Given the description of an element on the screen output the (x, y) to click on. 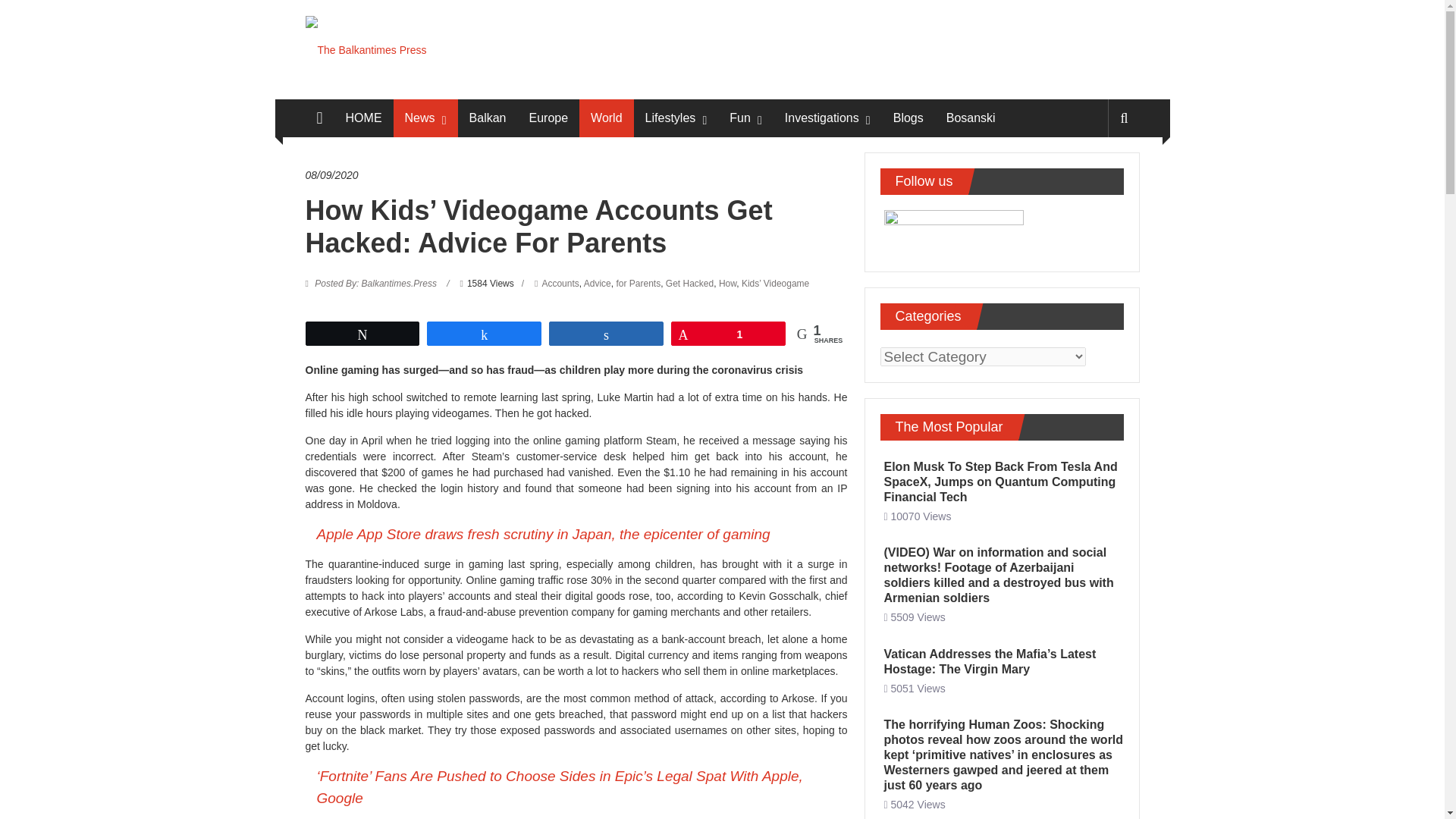
20:53 (331, 175)
Investigations (821, 118)
Posted By: Balkantimes.Press (376, 283)
Europe (547, 118)
Balkan (487, 118)
HOME (363, 118)
Bosanski (970, 118)
Lifestyles (670, 118)
Balkantimes.Press (376, 283)
